Given the description of an element on the screen output the (x, y) to click on. 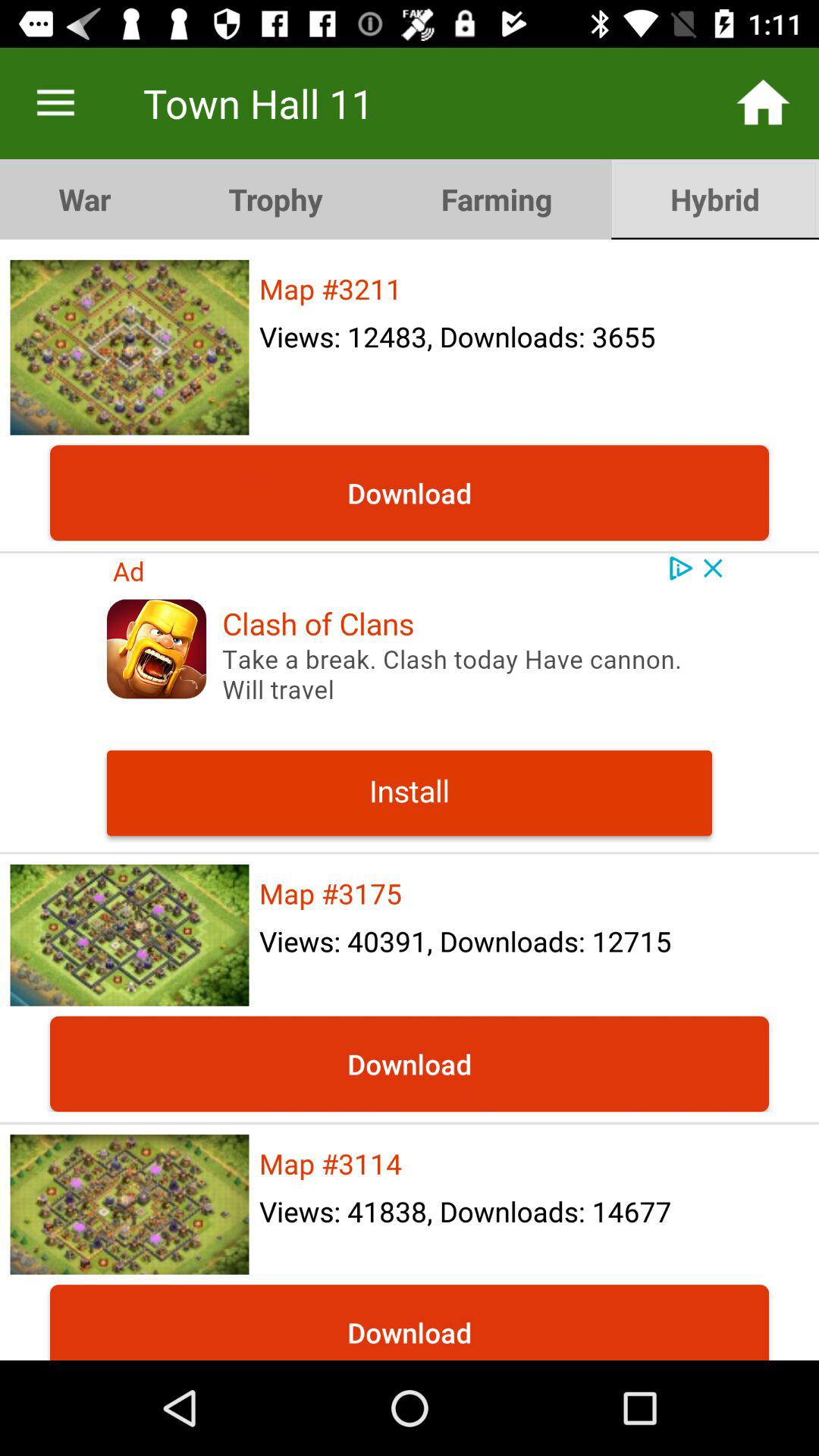
go to main menu option (55, 103)
